Given the description of an element on the screen output the (x, y) to click on. 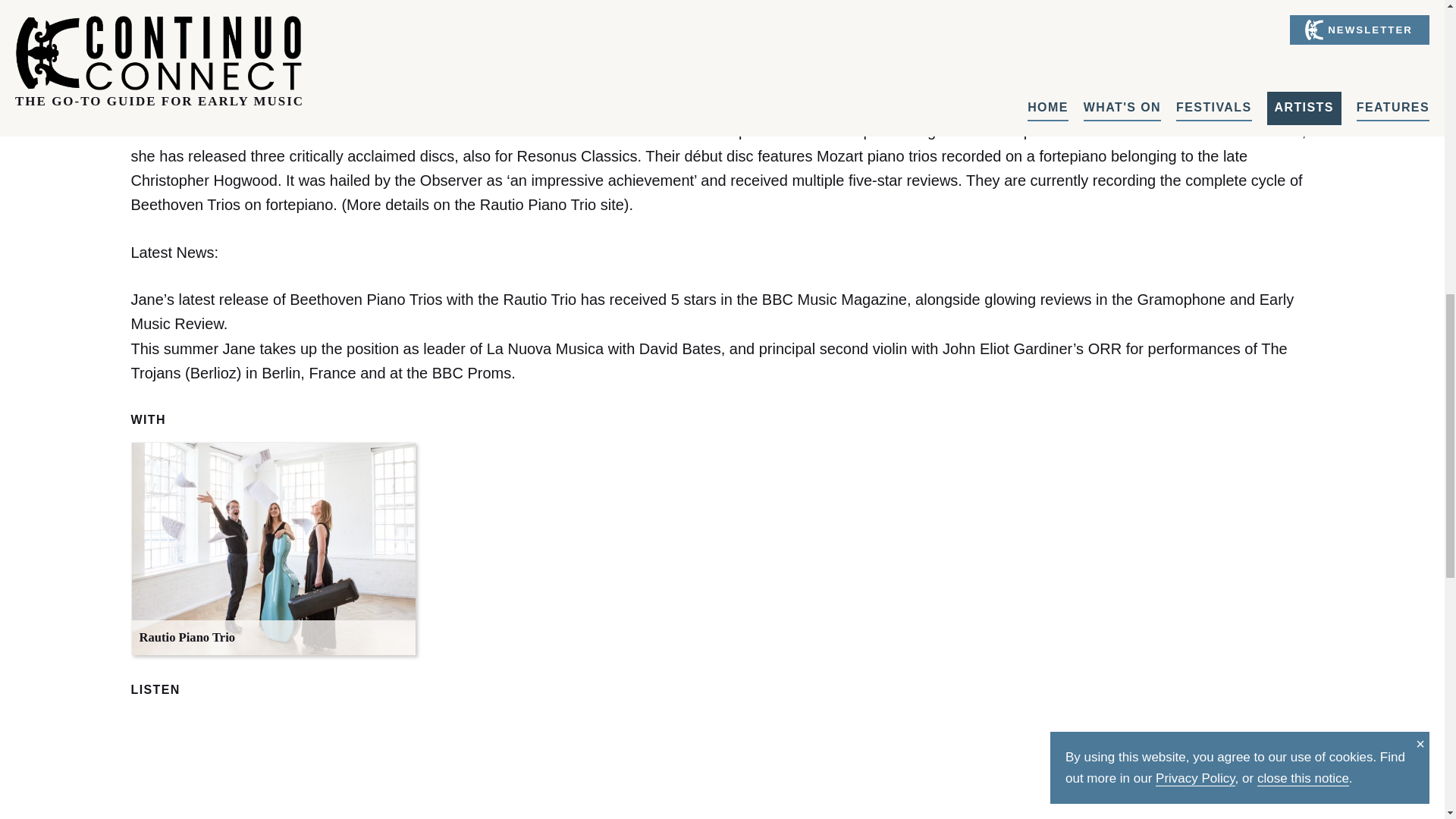
Rautio Piano Trio (273, 549)
Rautio Piano Trio (272, 549)
Jane Gordon (422, 4)
